Given the description of an element on the screen output the (x, y) to click on. 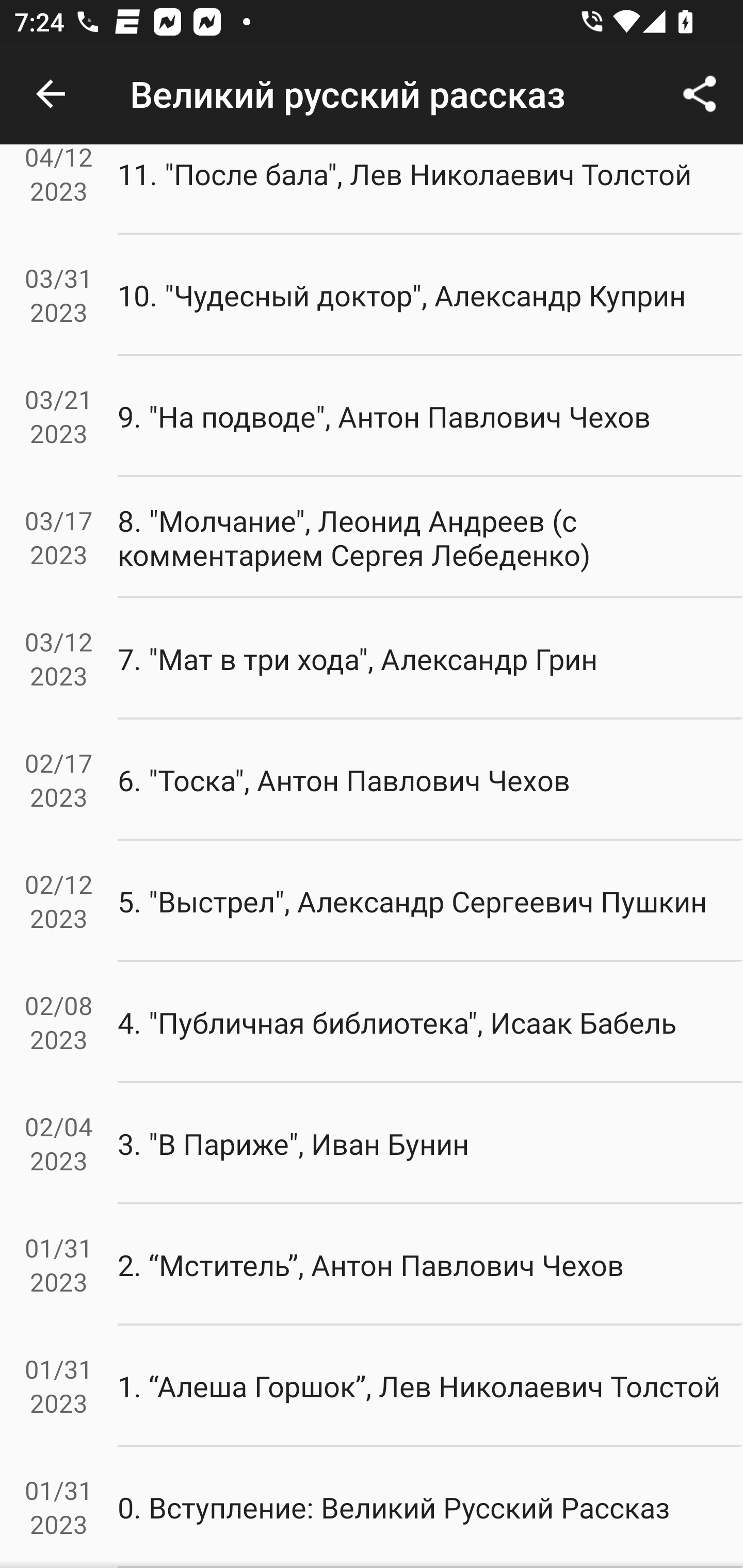
04/21 2023 12. "Соль", Исаак Бабель (371, 77)
Navigate up (50, 93)
Share... (699, 93)
03/31 2023 10. "Чудесный доктор", Александр Куприн (371, 295)
03/21 2023 9. "На подводе", Антон Павлович Чехов (371, 415)
03/12 2023 7. "Мат в три хода", Александр Грин (371, 658)
02/17 2023 6. "Тоска", Антон Павлович Чехов (371, 779)
02/08 2023 4. "Публичная библиотека", Исаак Бабель (371, 1022)
02/04 2023 3. "В Париже", Иван Бунин (371, 1143)
01/31 2023 2. “Мститель”, Антон Павлович Чехов (371, 1264)
01/31 2023 0. Вступление: Великий Русский Рассказ (371, 1507)
